Given the description of an element on the screen output the (x, y) to click on. 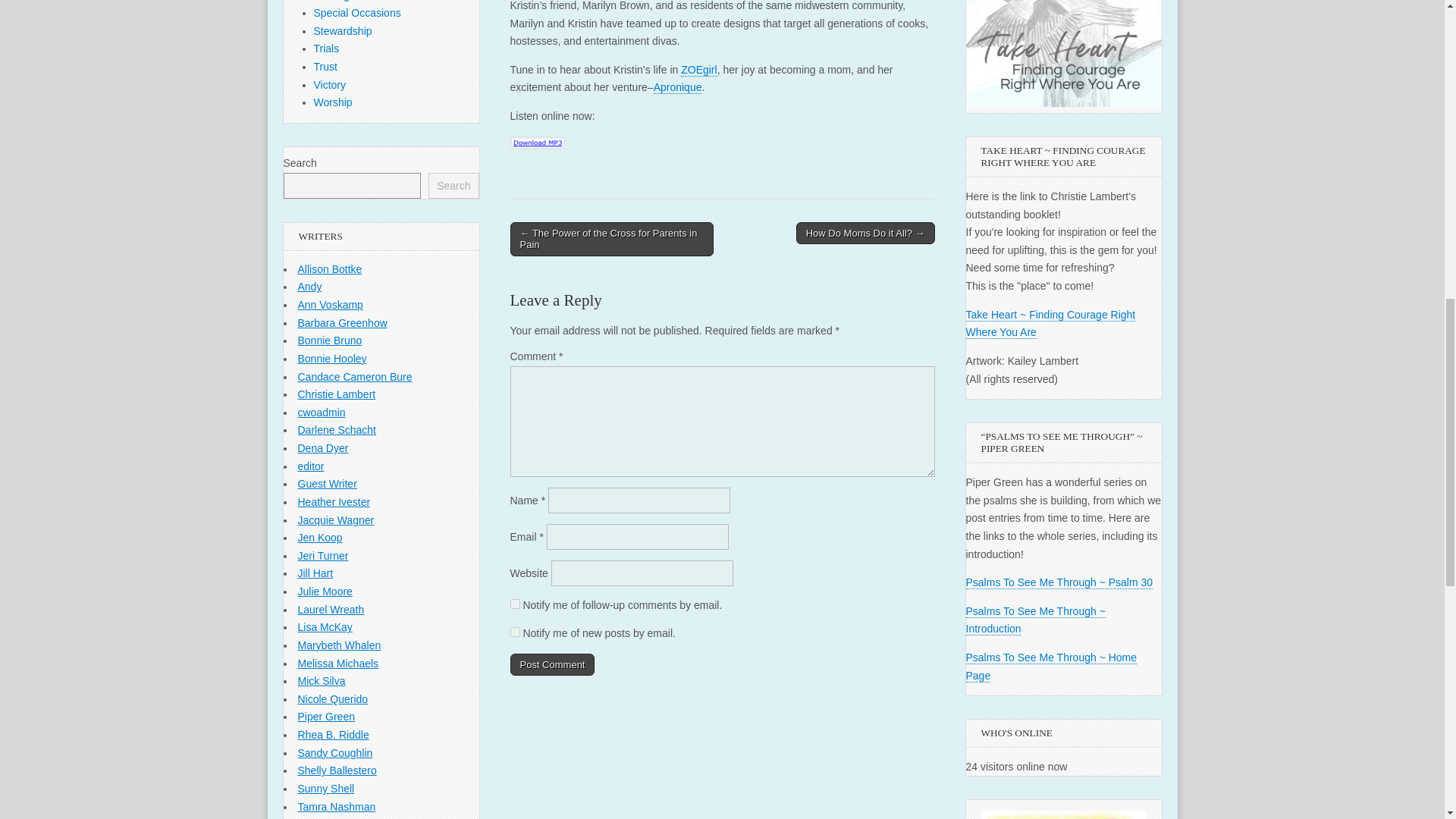
Posts by Allison Bottke (329, 268)
Posts by Candace Cameron Bure (354, 377)
Posts by Barbara Greenhow (342, 322)
ZOEgirl (698, 69)
subscribe (514, 603)
Apronique (677, 87)
Posts by cwoadmin (321, 412)
Posts by Andy (309, 286)
subscribe (514, 632)
Posts by Bonnie Bruno (329, 340)
Post Comment (551, 664)
Post Comment (551, 664)
Posts by Ann Voskamp (329, 304)
Posts by Bonnie Hooley (331, 358)
Posts by Christie Lambert (336, 394)
